Given the description of an element on the screen output the (x, y) to click on. 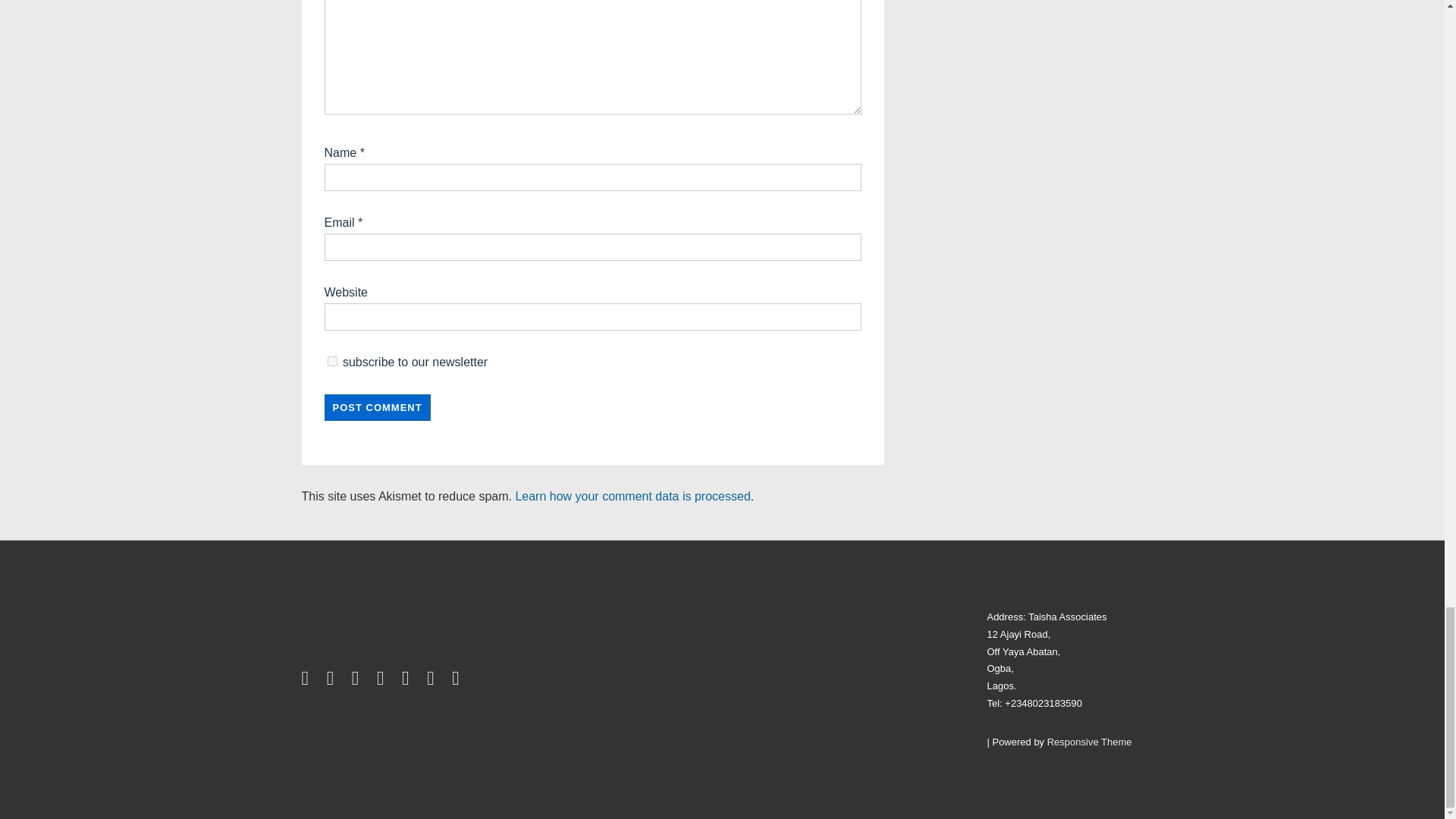
Learn how your comment data is processed (632, 495)
1 (332, 361)
Post Comment (377, 406)
Post Comment (377, 406)
twitter (308, 681)
